Given the description of an element on the screen output the (x, y) to click on. 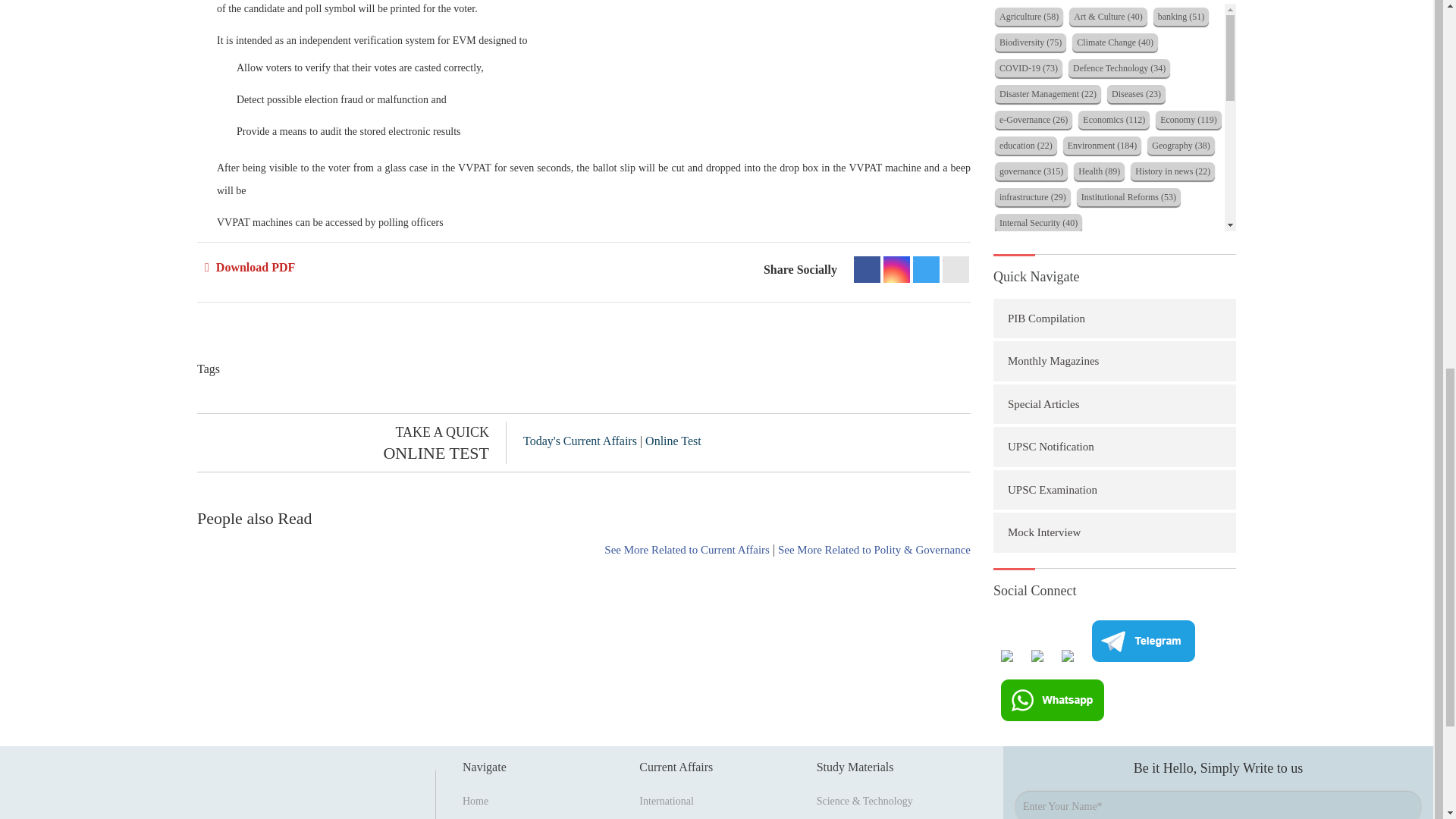
Telegram (925, 269)
Google Gmail (955, 269)
Instagram (896, 269)
Facebook (866, 269)
